Given the description of an element on the screen output the (x, y) to click on. 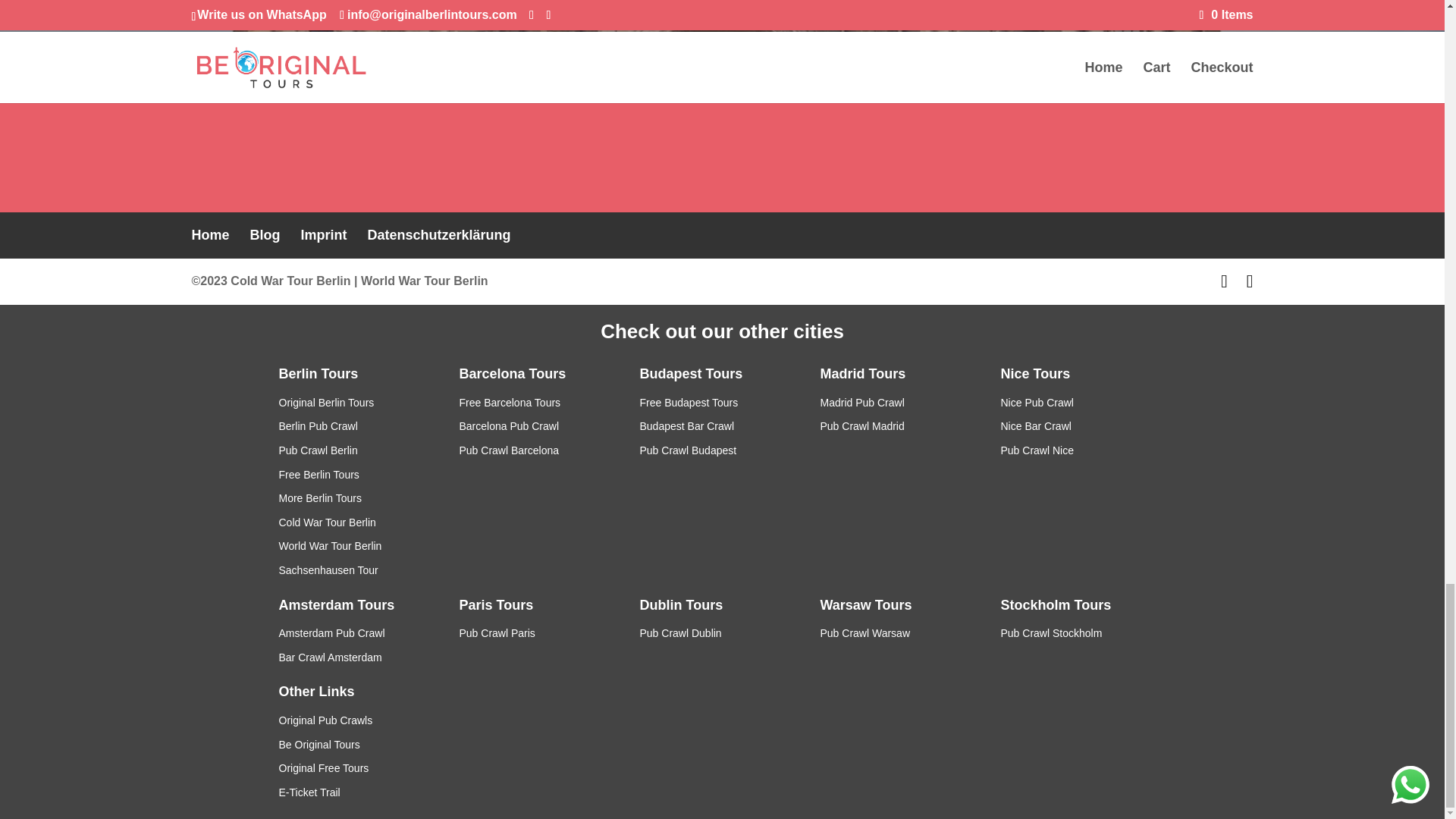
Imprint (324, 234)
Berlin Pub Crawl (318, 426)
Free Barcelona Tours (510, 402)
Cold War Tour Berlin (327, 522)
Blog (265, 234)
Barcelona Pub Crawl (509, 426)
Pub Crawl Barcelona (509, 450)
More Berlin Tours (320, 498)
World War Tour Berlin (424, 280)
Home (209, 234)
